Given the description of an element on the screen output the (x, y) to click on. 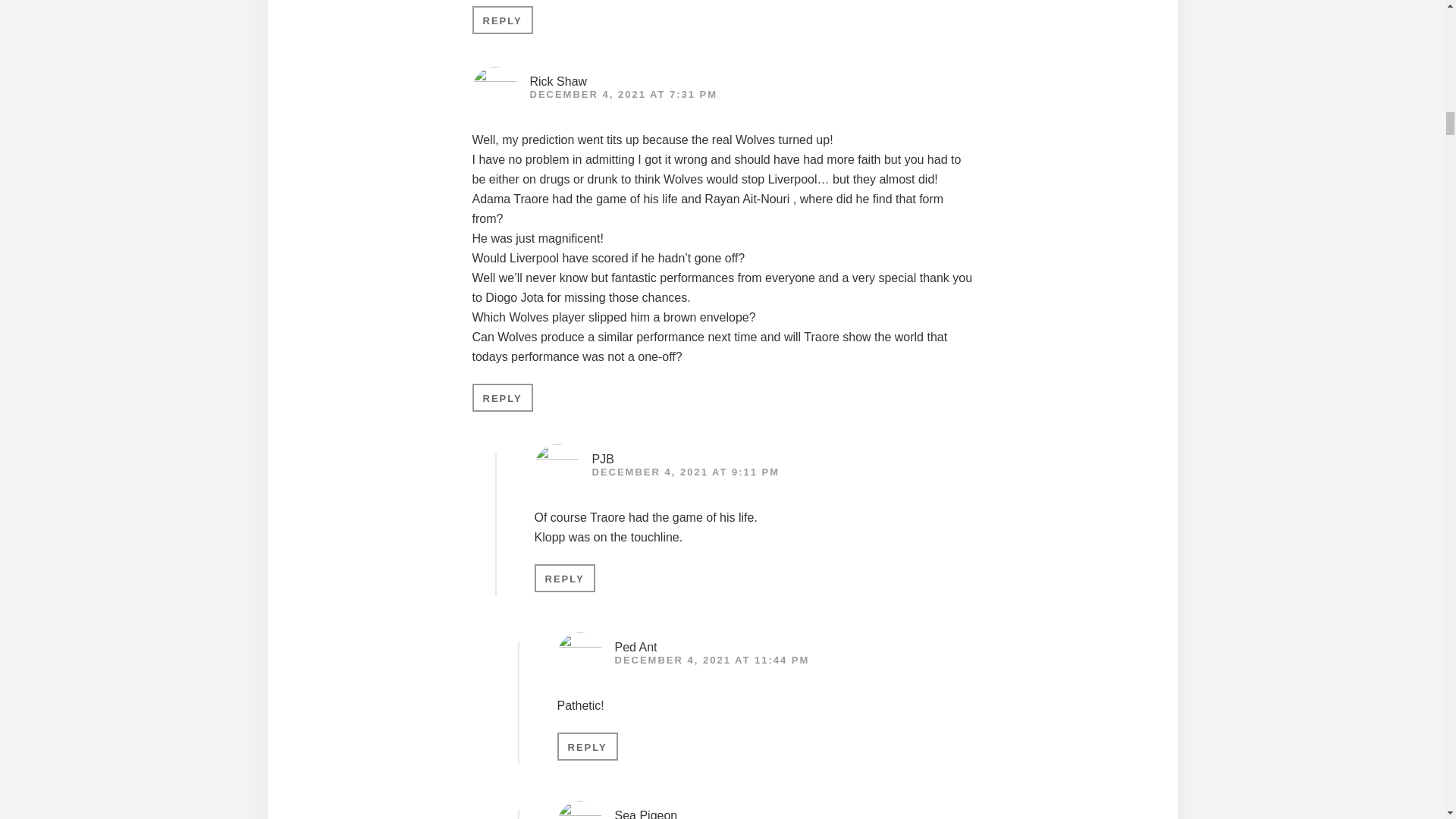
DECEMBER 4, 2021 AT 11:44 PM (711, 659)
DECEMBER 4, 2021 AT 7:31 PM (623, 93)
REPLY (501, 397)
DECEMBER 4, 2021 AT 9:11 PM (684, 471)
REPLY (564, 578)
REPLY (501, 19)
REPLY (586, 746)
